Given the description of an element on the screen output the (x, y) to click on. 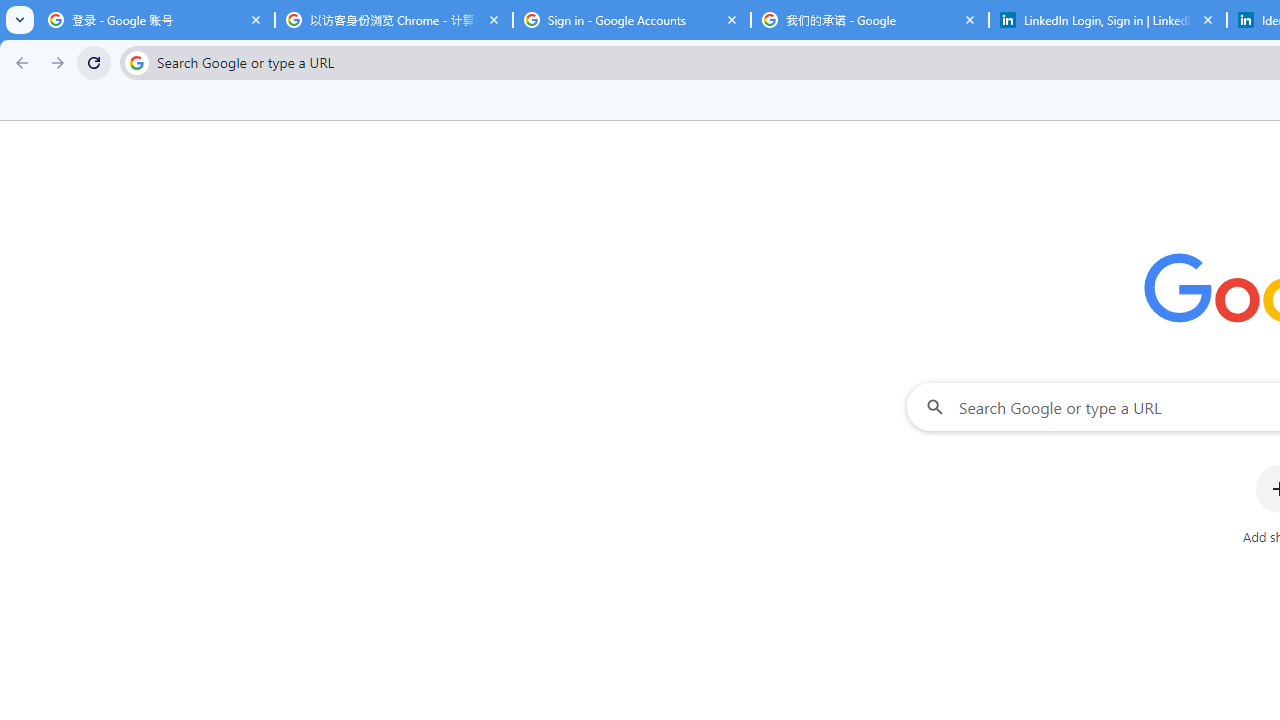
Sign in - Google Accounts (632, 20)
LinkedIn Login, Sign in | LinkedIn (1108, 20)
